Given the description of an element on the screen output the (x, y) to click on. 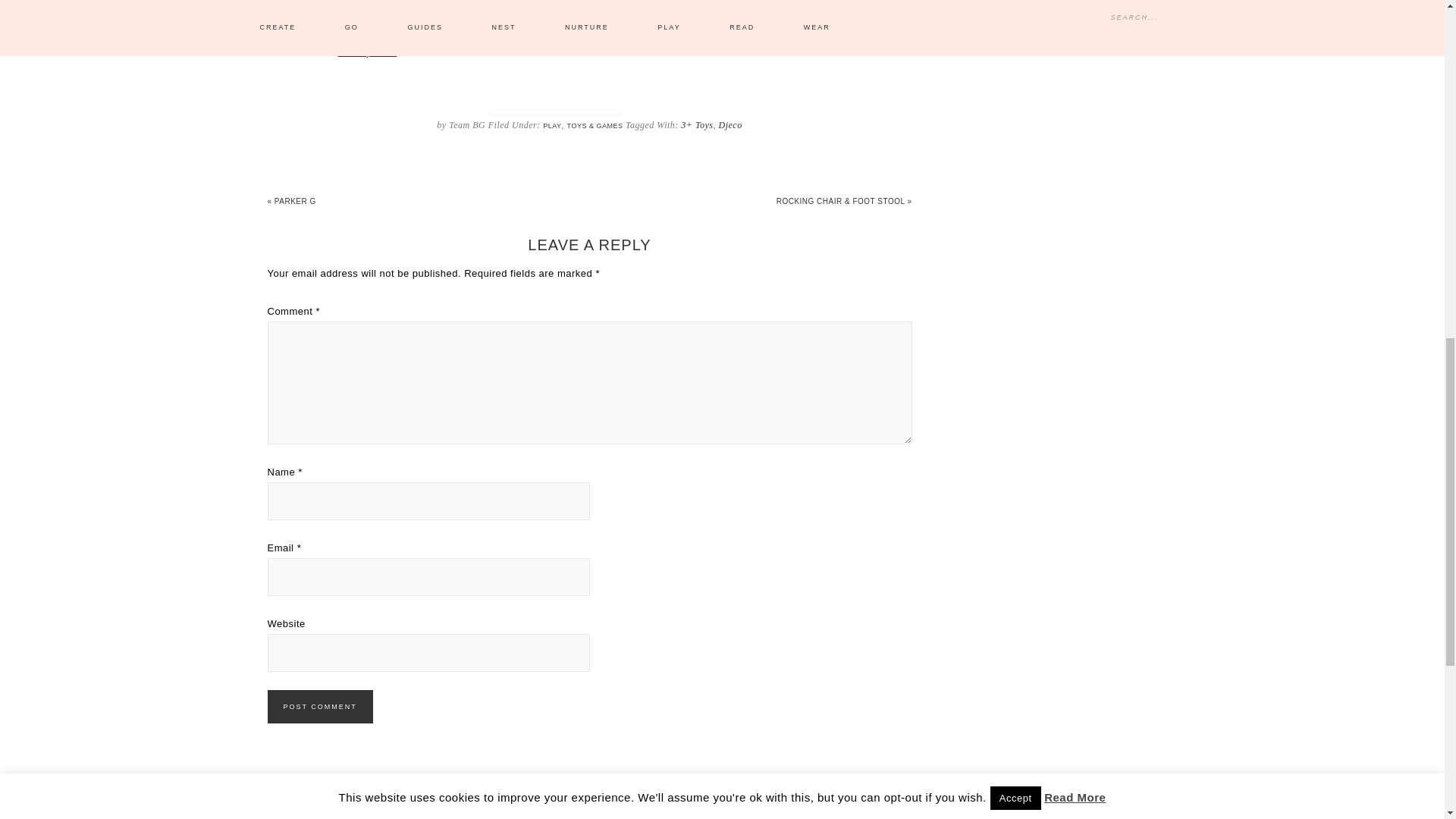
les zamiloo tree house by djeco (367, 51)
Post Comment (319, 706)
